Given the description of an element on the screen output the (x, y) to click on. 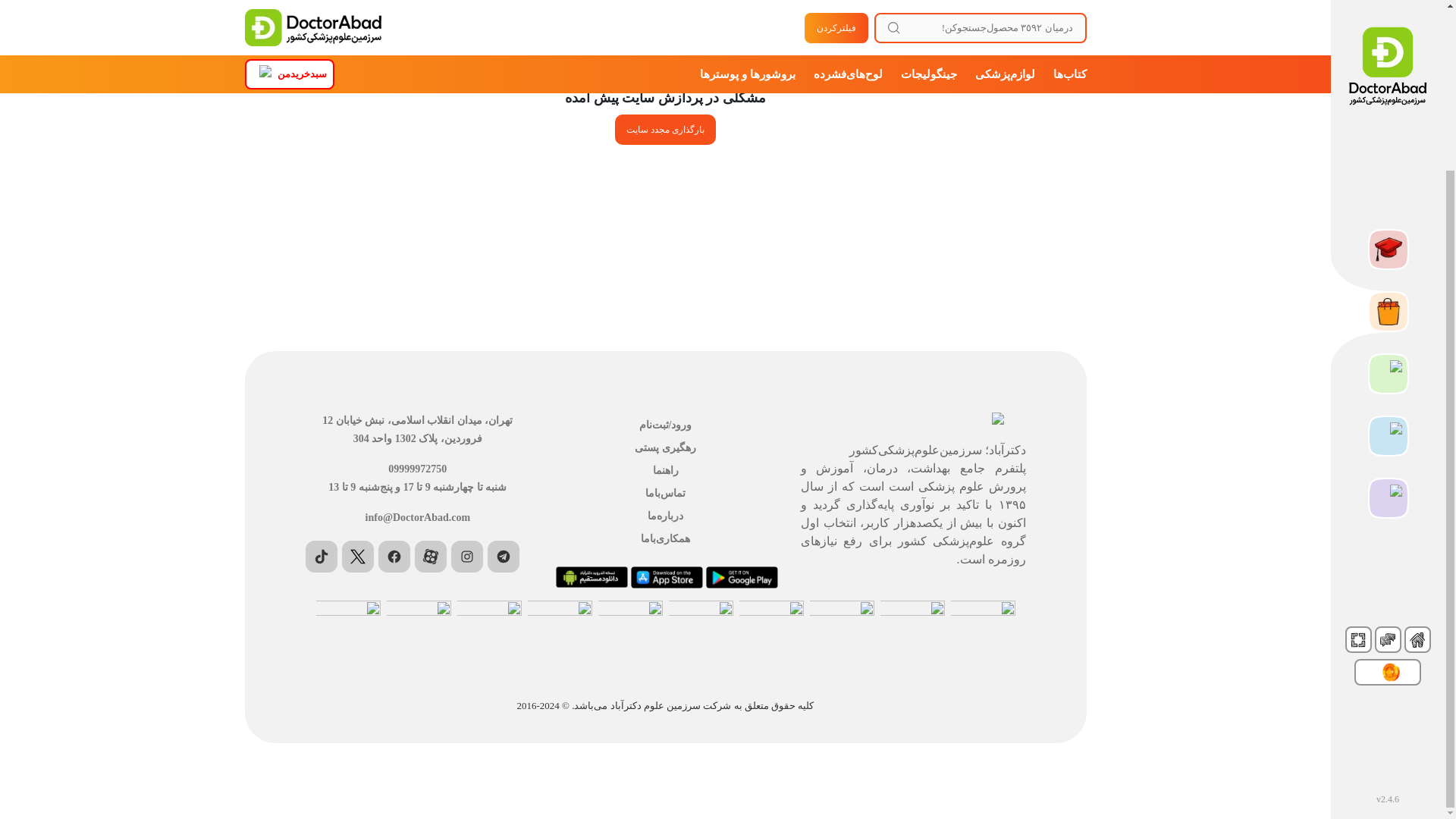
Twitter (358, 556)
Instagram (467, 556)
Telegram (503, 556)
TikTok (321, 556)
Facebook (394, 556)
